Given the description of an element on the screen output the (x, y) to click on. 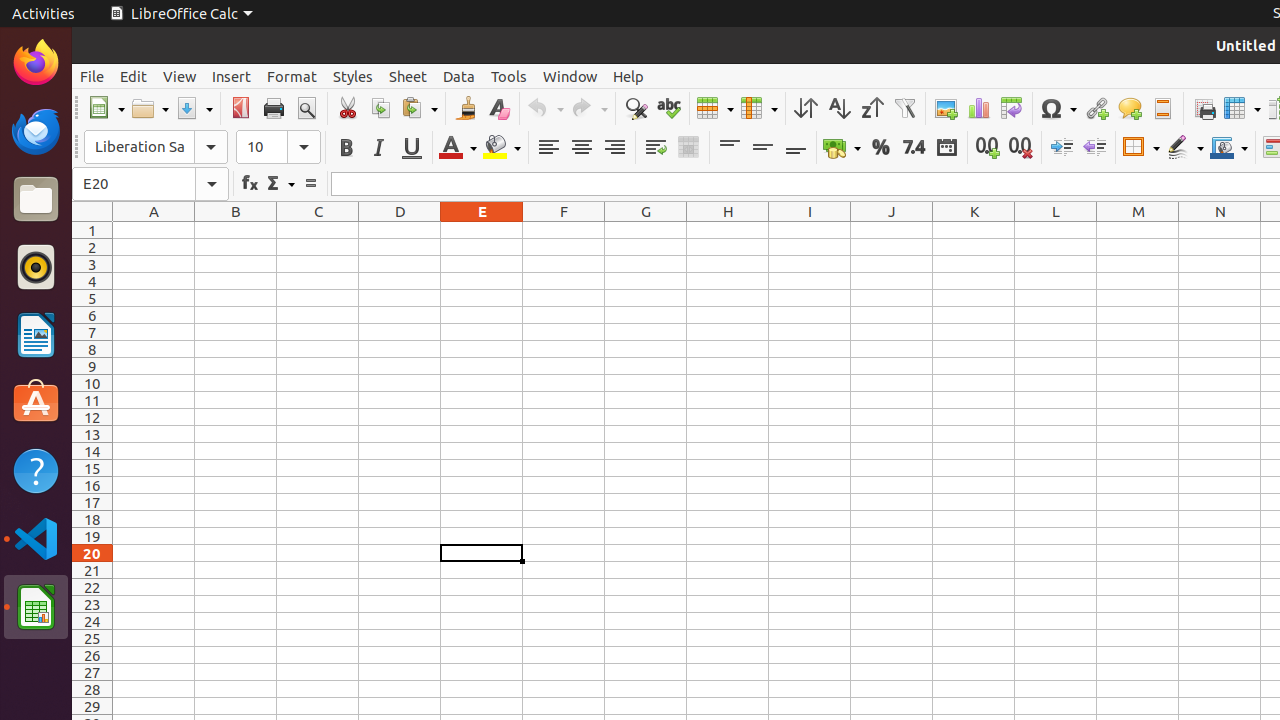
Align Left Element type: push-button (548, 147)
AutoFilter Element type: push-button (904, 108)
Add Decimal Place Element type: push-button (987, 147)
Font Size Element type: combo-box (278, 147)
Sheet Element type: menu (408, 76)
